Given the description of an element on the screen output the (x, y) to click on. 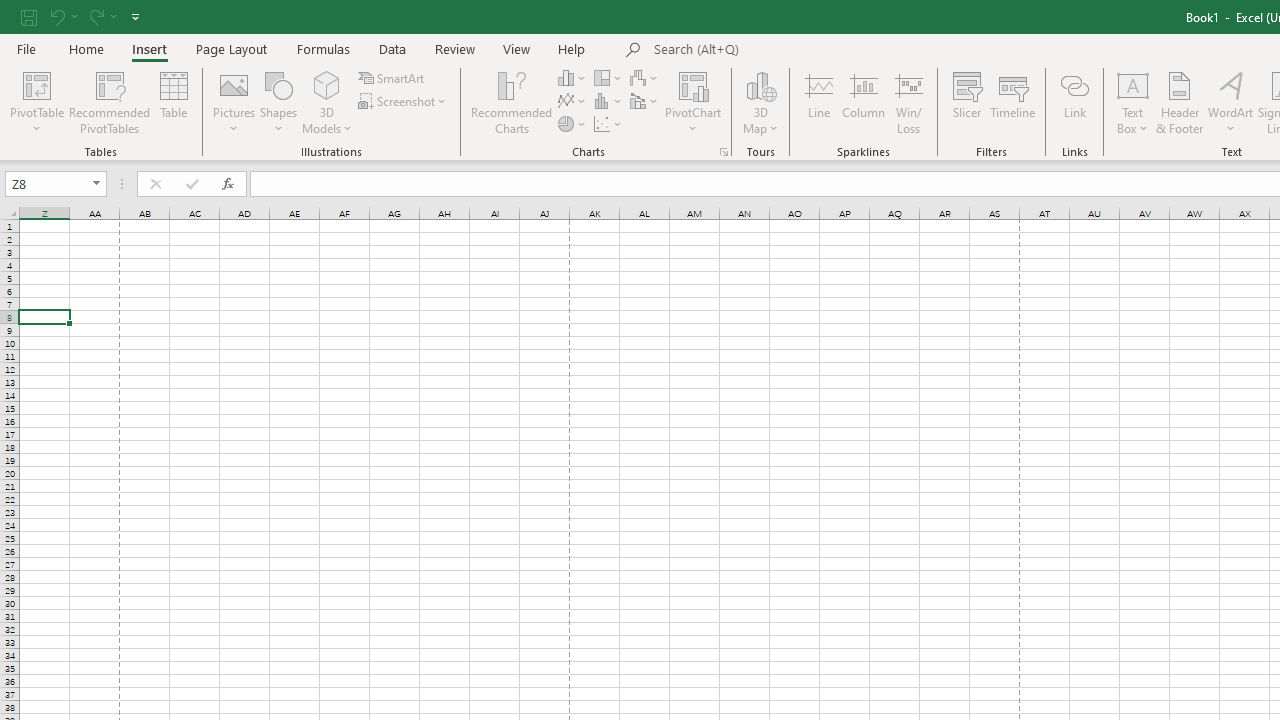
Insert Statistic Chart (609, 101)
PivotTable (36, 102)
Insert Waterfall, Funnel, Stock, Surface, or Radar Chart (645, 78)
Insert Combo Chart (645, 101)
Recommended PivotTables (109, 102)
PivotChart (693, 84)
Header & Footer... (1179, 102)
Table (173, 102)
PivotTable (36, 84)
Insert Scatter (X, Y) or Bubble Chart (609, 124)
Pictures (234, 102)
SmartArt... (392, 78)
